Given the description of an element on the screen output the (x, y) to click on. 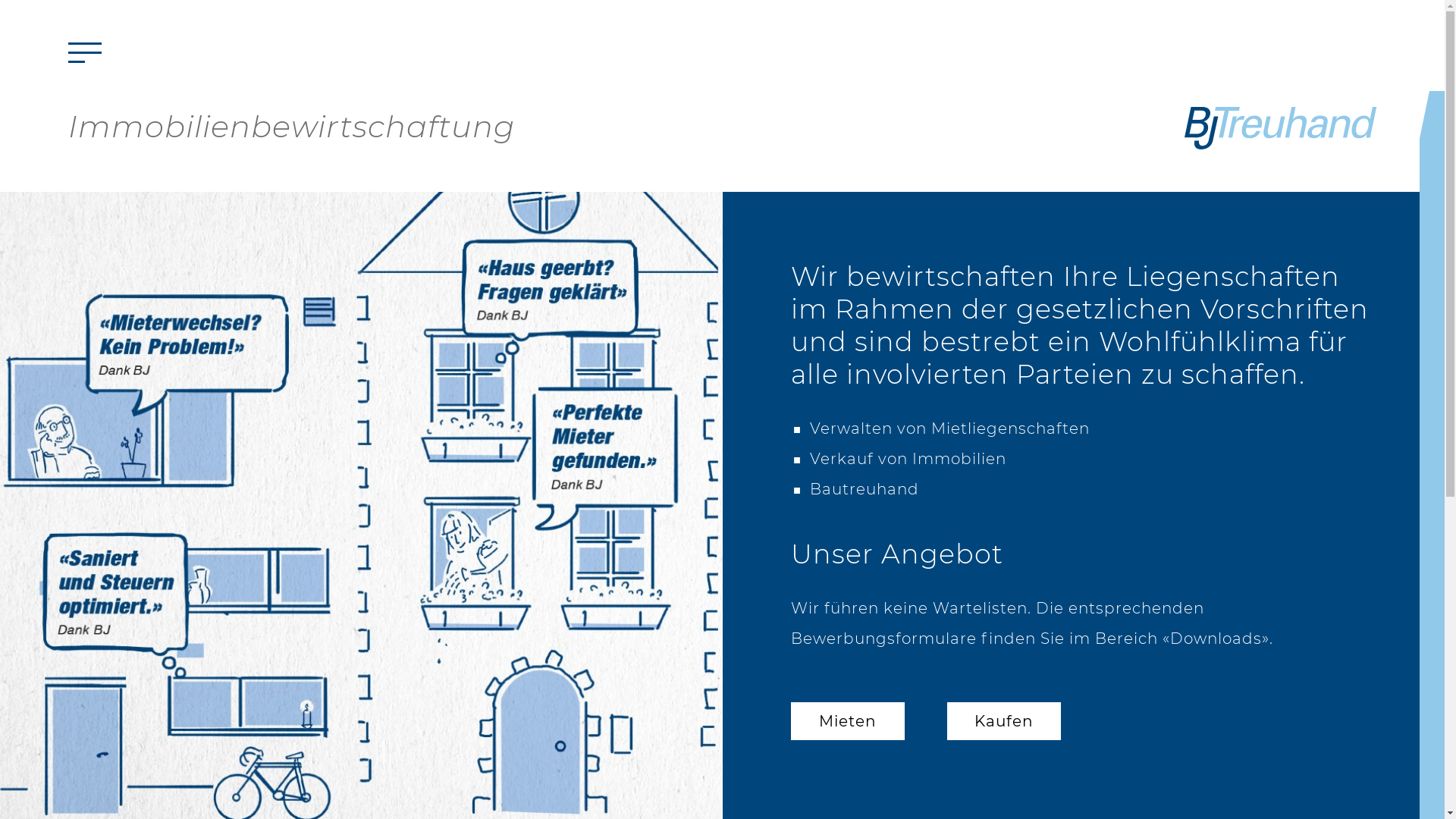
Mieten Element type: text (846, 721)
Kaufen Element type: text (1003, 721)
